Given the description of an element on the screen output the (x, y) to click on. 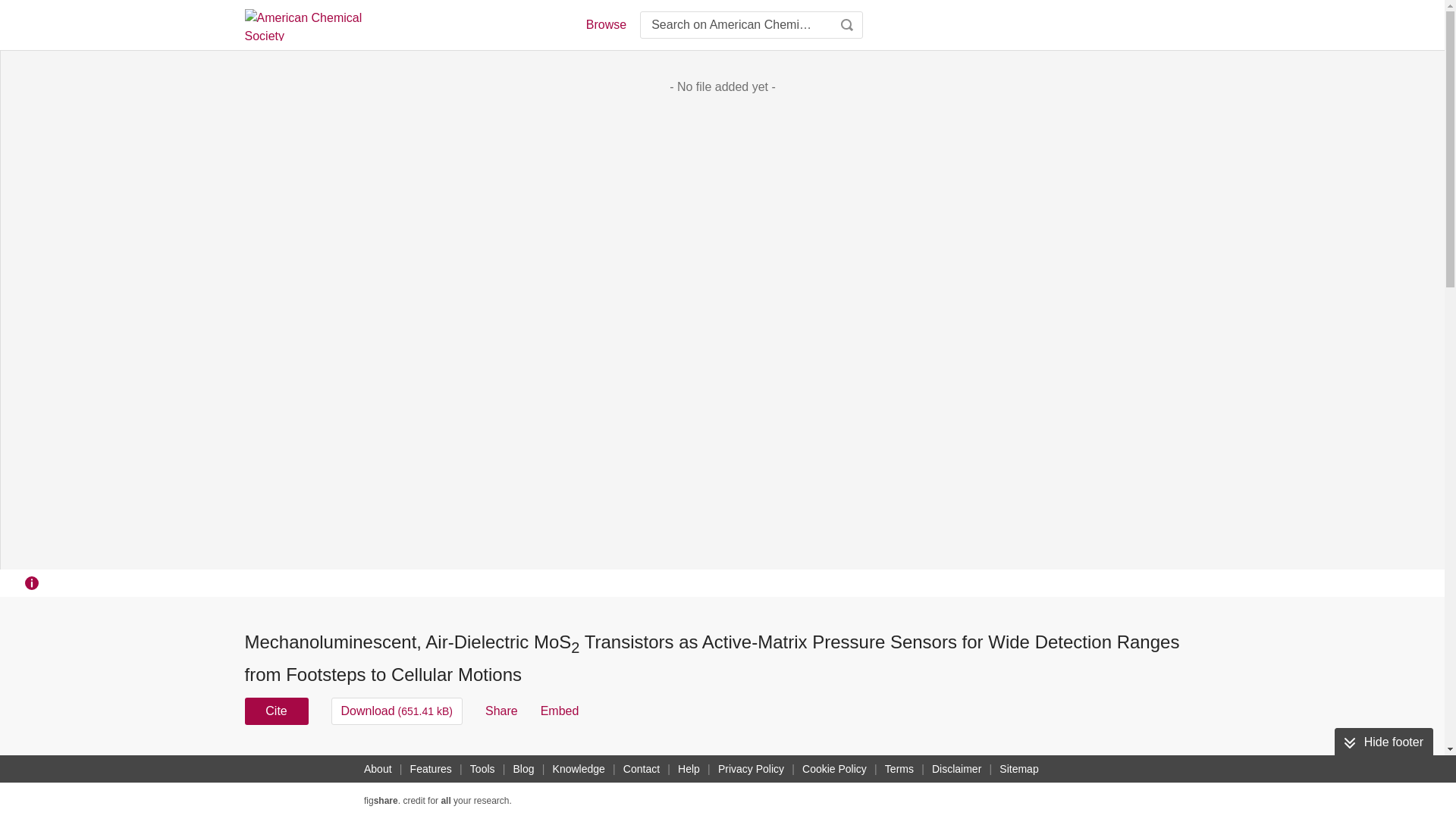
Cite (275, 710)
Embed (559, 710)
Share (501, 710)
USAGE METRICS (976, 765)
Browse (605, 24)
